Given the description of an element on the screen output the (x, y) to click on. 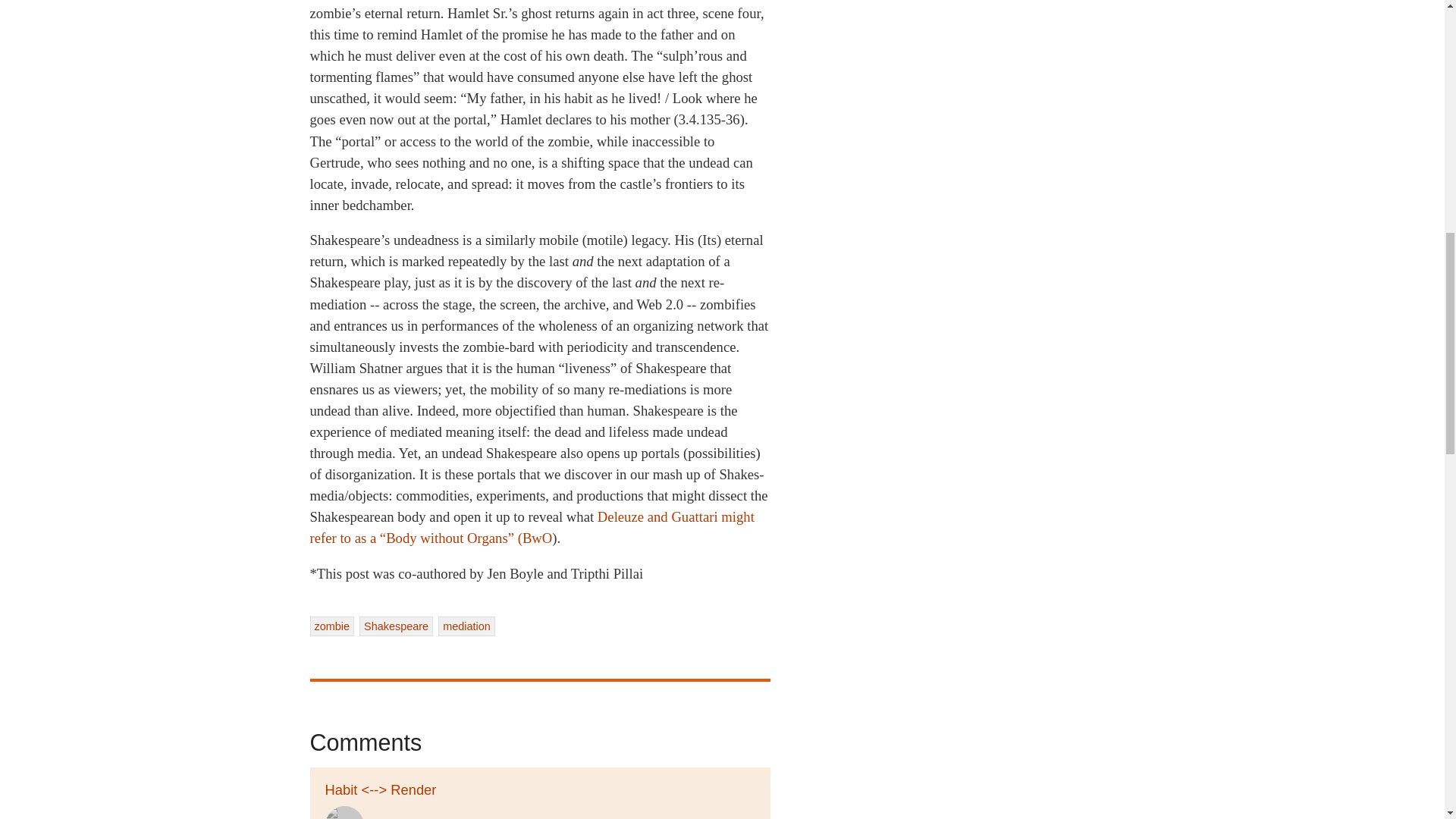
View user profile. (343, 812)
Coastal Carolina University (553, 817)
Shakespeare (395, 626)
mediation (466, 626)
zombie (330, 626)
Coastal Carolina University (553, 817)
